Given the description of an element on the screen output the (x, y) to click on. 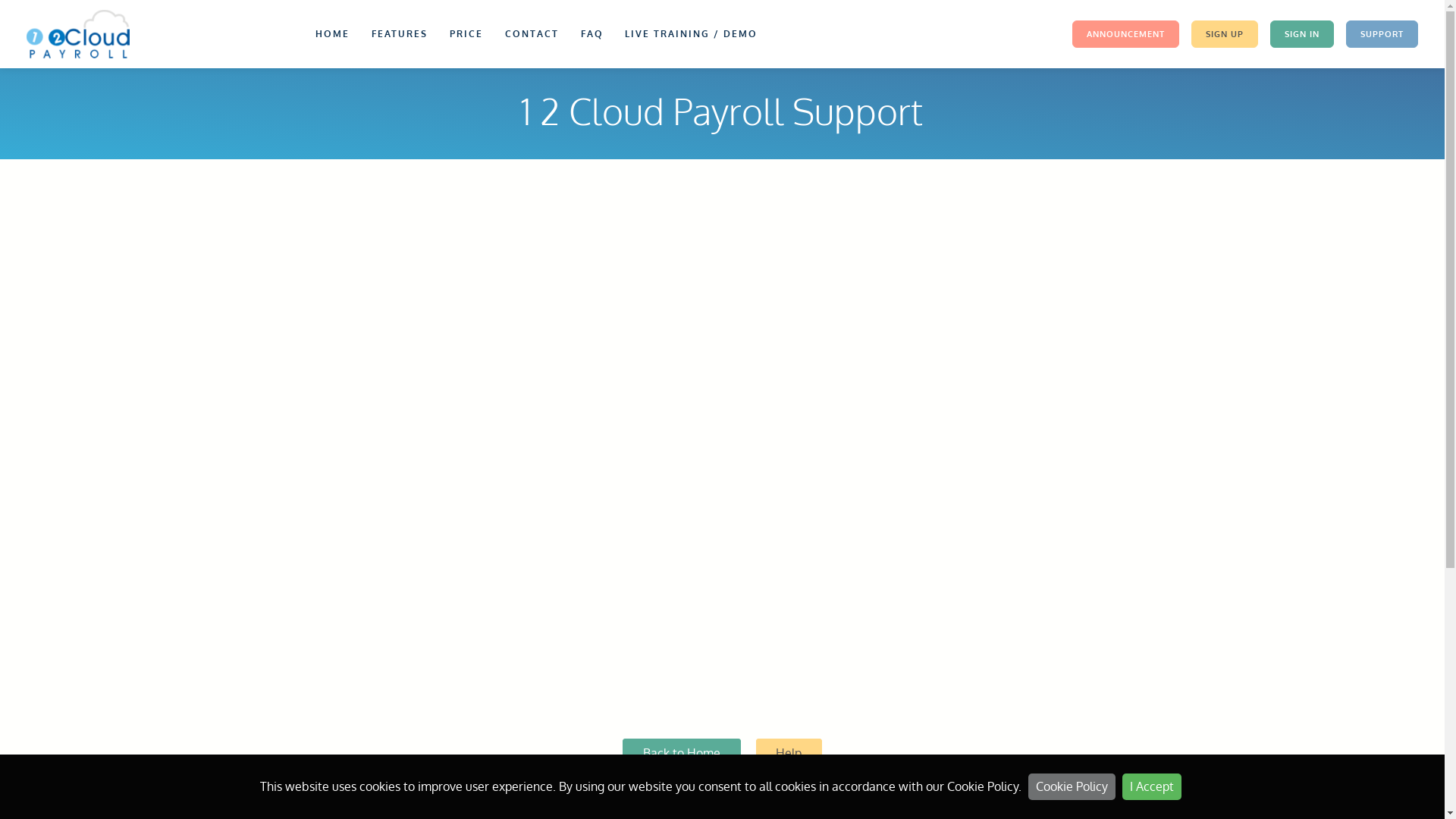
FAQ Element type: text (591, 33)
HOME Element type: text (332, 33)
FEATURES Element type: text (399, 33)
SIGN IN Element type: text (1301, 34)
ANNOUNCEMENT Element type: text (1125, 34)
CONTACT Element type: text (531, 33)
Back to Home Element type: text (681, 752)
SUPPORT Element type: text (1382, 34)
Cookie Policy Element type: text (1071, 786)
I Accept Element type: text (1151, 786)
PRICE Element type: text (466, 33)
LIVE TRAINING / DEMO Element type: text (690, 33)
Help Element type: text (788, 752)
SIGN UP Element type: text (1224, 34)
